Given the description of an element on the screen output the (x, y) to click on. 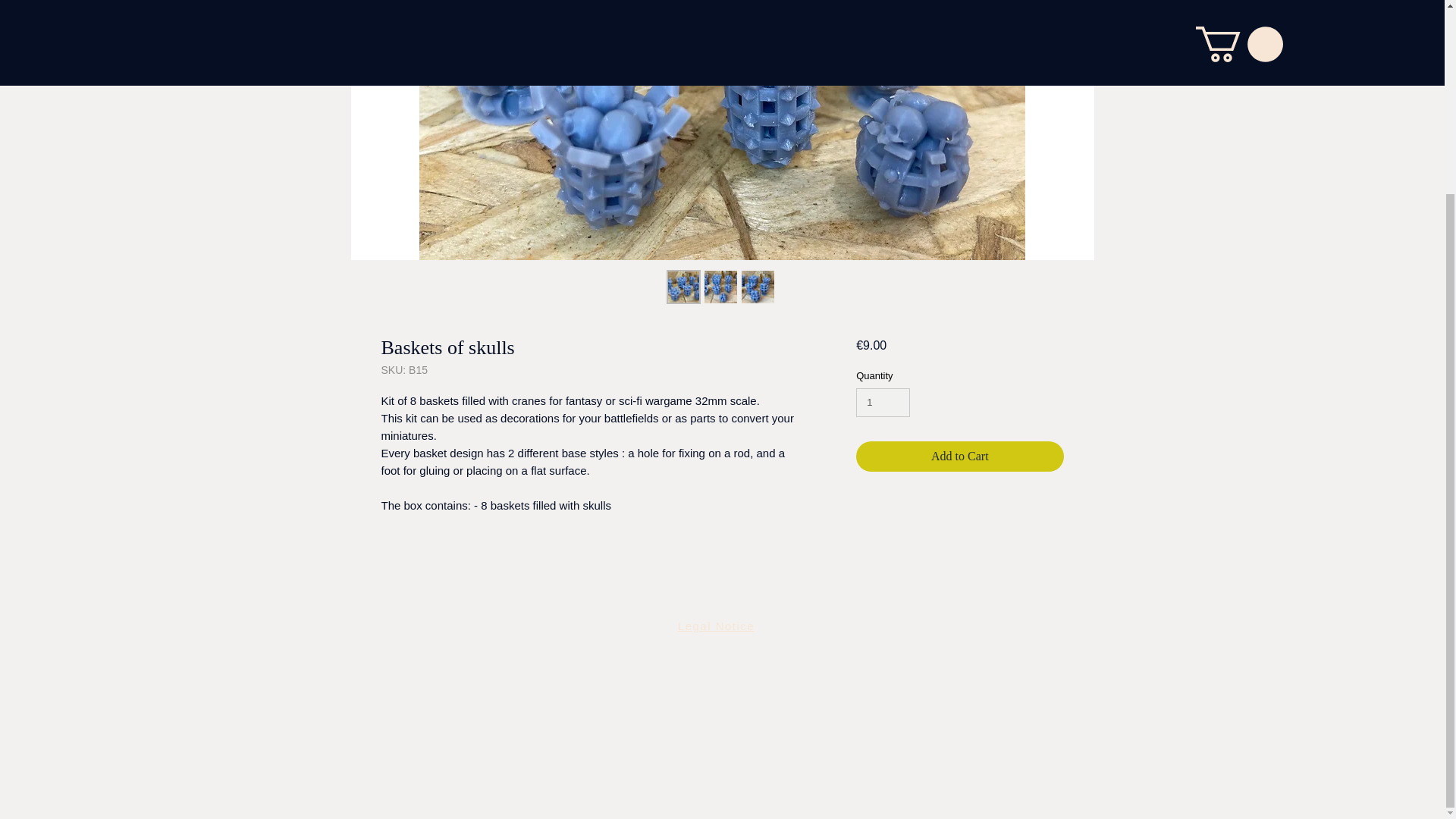
Add to Cart (959, 456)
1 (883, 402)
Legal Notice (718, 625)
